Given the description of an element on the screen output the (x, y) to click on. 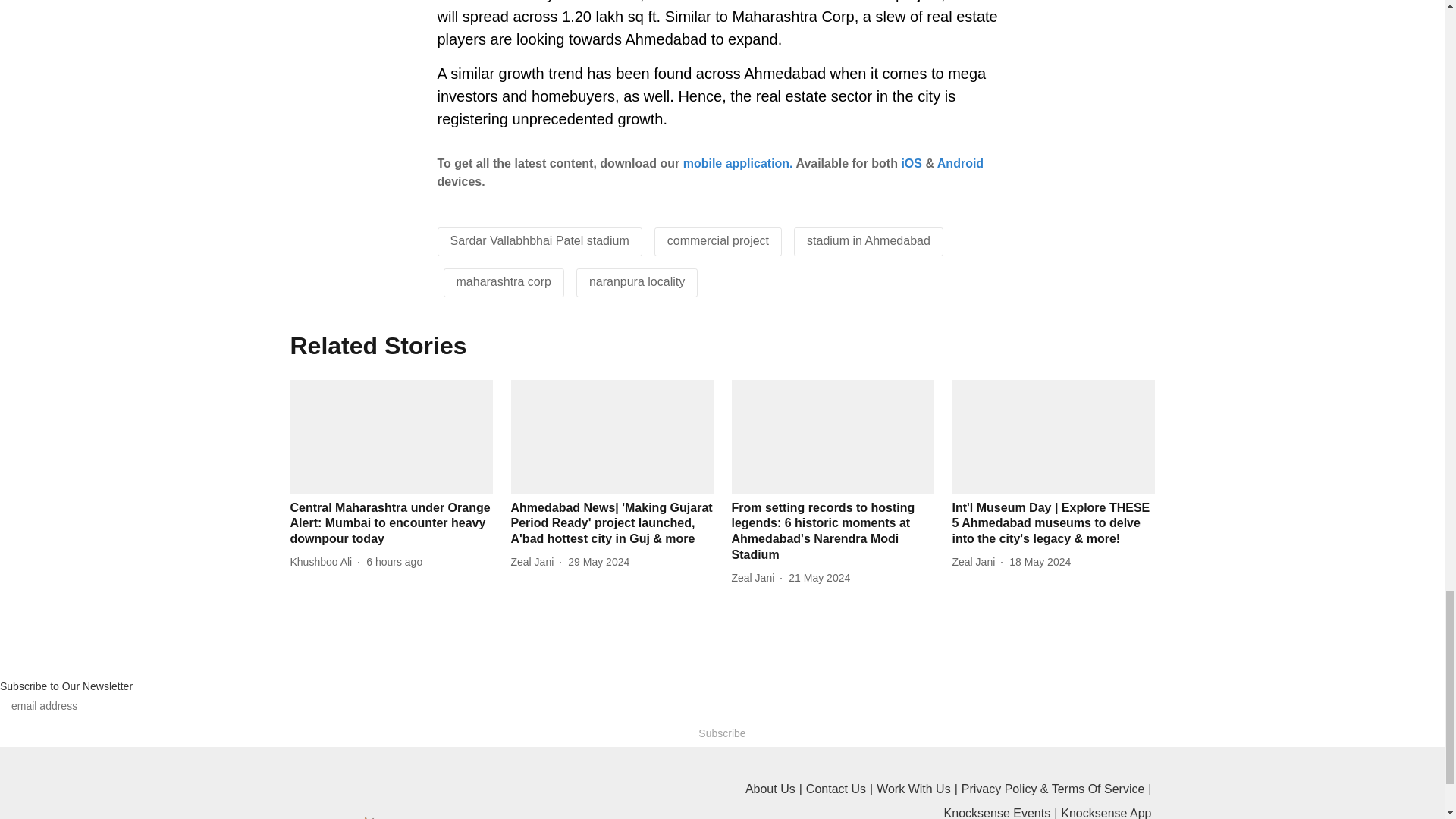
2024-05-21 12:44 (819, 578)
2024-07-17 05:56 (394, 562)
iOS (911, 163)
naranpura locality (636, 281)
Android (960, 163)
commercial project (717, 240)
2024-05-29 07:58 (597, 562)
Khushboo Ali (323, 562)
Zeal Jani (535, 562)
stadium in Ahmedabad (868, 240)
maharashtra corp (504, 281)
Sardar Vallabhbhai Patel stadium (538, 240)
2024-05-18 02:43 (1039, 562)
